Given the description of an element on the screen output the (x, y) to click on. 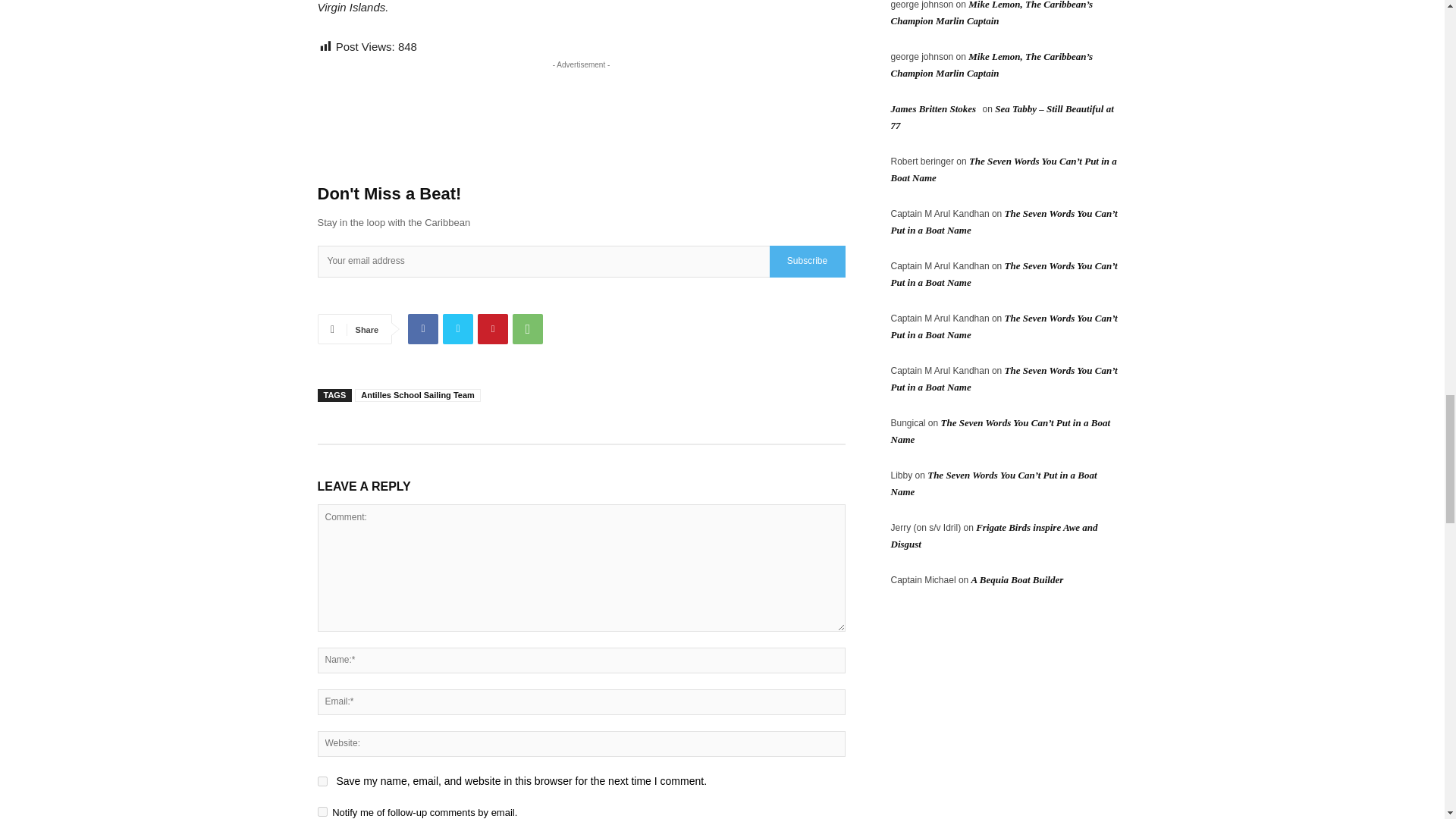
yes (321, 781)
subscribe (321, 811)
